Given the description of an element on the screen output the (x, y) to click on. 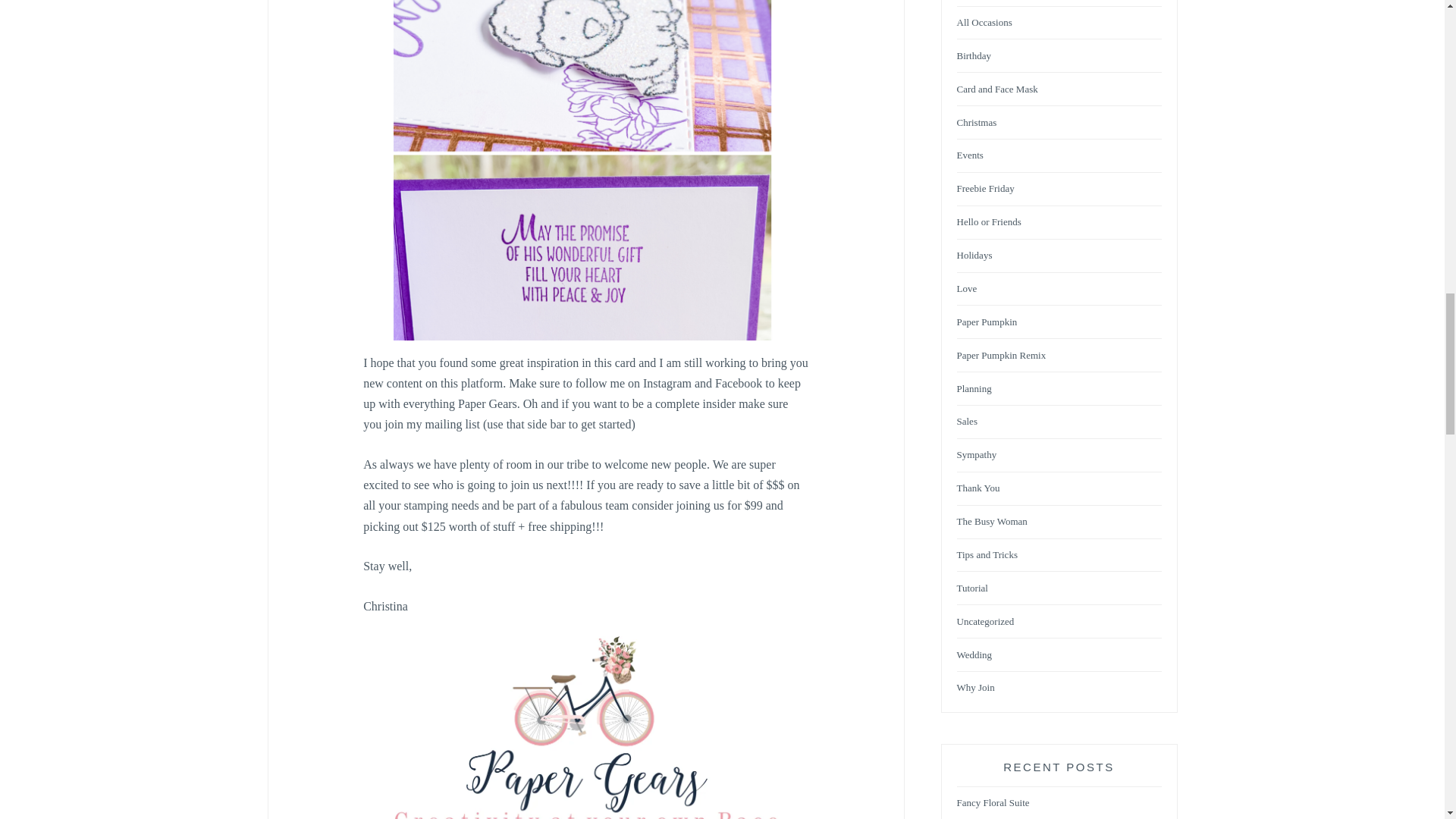
All Occasions (983, 22)
Card and Face Mask (997, 89)
Birthday (973, 56)
